Given the description of an element on the screen output the (x, y) to click on. 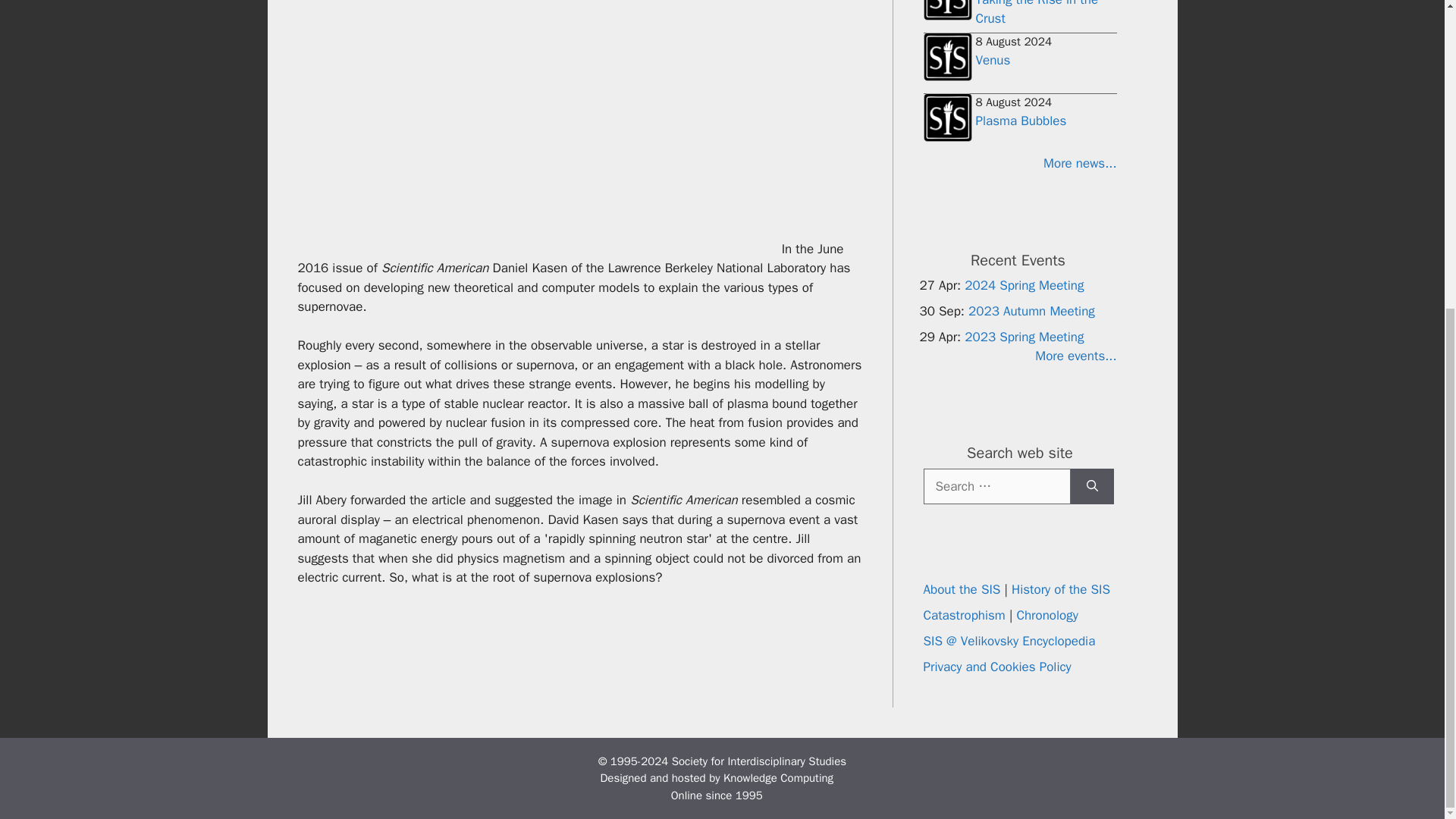
Taking the Rise in the Crust (1036, 13)
2024 Spring Meeting (1023, 284)
2023 Spring Meeting (1023, 335)
2023 Autumn Meeting (1031, 310)
Venus (992, 59)
More news... (1019, 163)
Search for: (996, 485)
Plasma Bubbles (1020, 120)
